Given the description of an element on the screen output the (x, y) to click on. 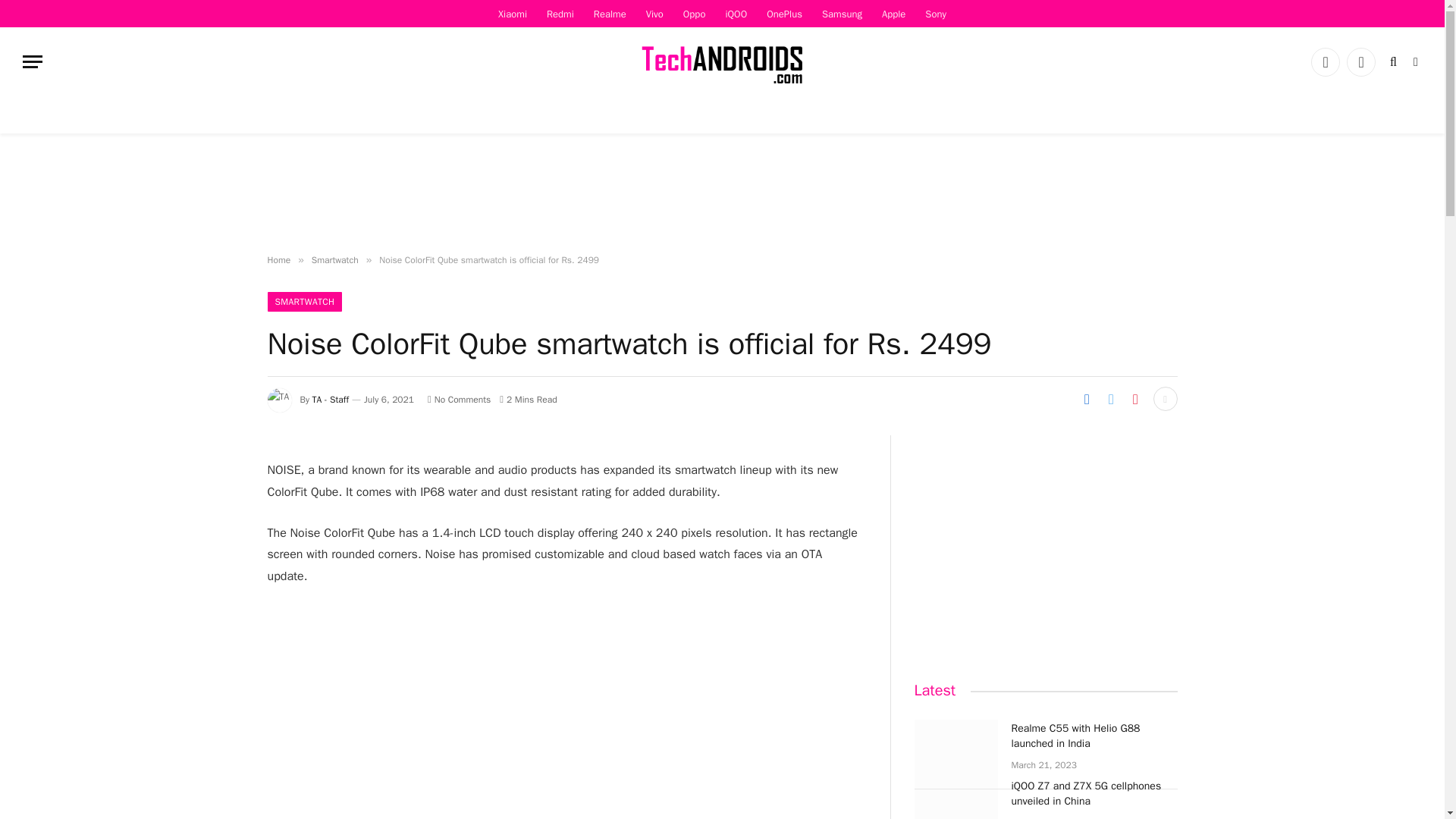
TA - Staff (331, 399)
Posts by TA - Staff (331, 399)
Sony (935, 13)
Smartwatch (334, 259)
Apple (893, 13)
Share on Facebook (1086, 398)
No Comments (459, 399)
Xiaomi (512, 13)
Oppo (694, 13)
TechANDROIDS (721, 61)
Switch to Dark Design - easier on eyes. (1414, 61)
OnePlus (784, 13)
SMARTWATCH (304, 301)
Vivo (654, 13)
Samsung (842, 13)
